Given the description of an element on the screen output the (x, y) to click on. 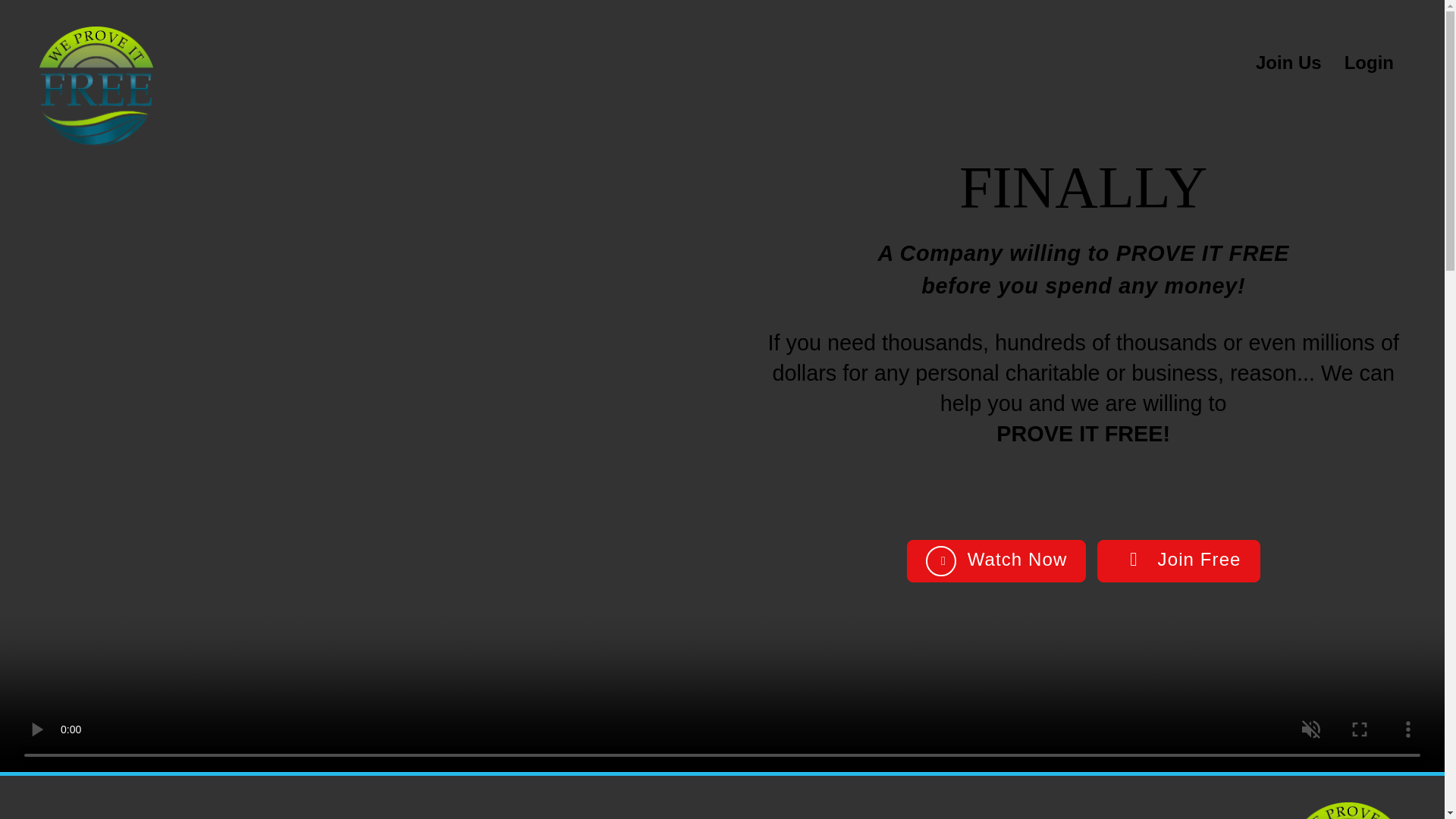
Watch Now (996, 560)
Login (1368, 62)
Join Free (1178, 560)
Join Us (1288, 62)
